Given the description of an element on the screen output the (x, y) to click on. 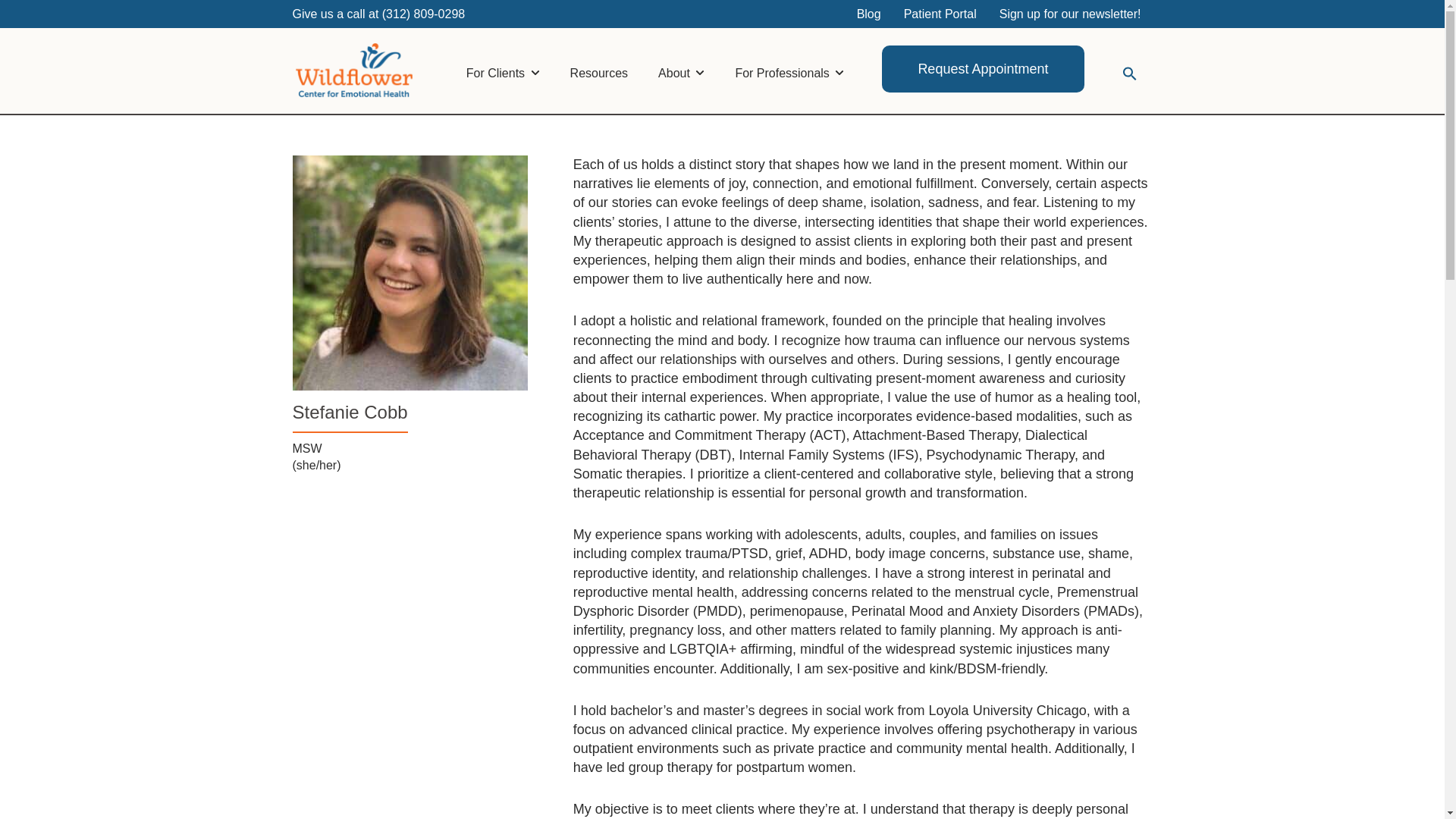
Blog (868, 13)
Patient Portal (940, 13)
Sign up for our newsletter! (1070, 13)
Resources (598, 68)
About (681, 68)
For Clients (502, 68)
